Given the description of an element on the screen output the (x, y) to click on. 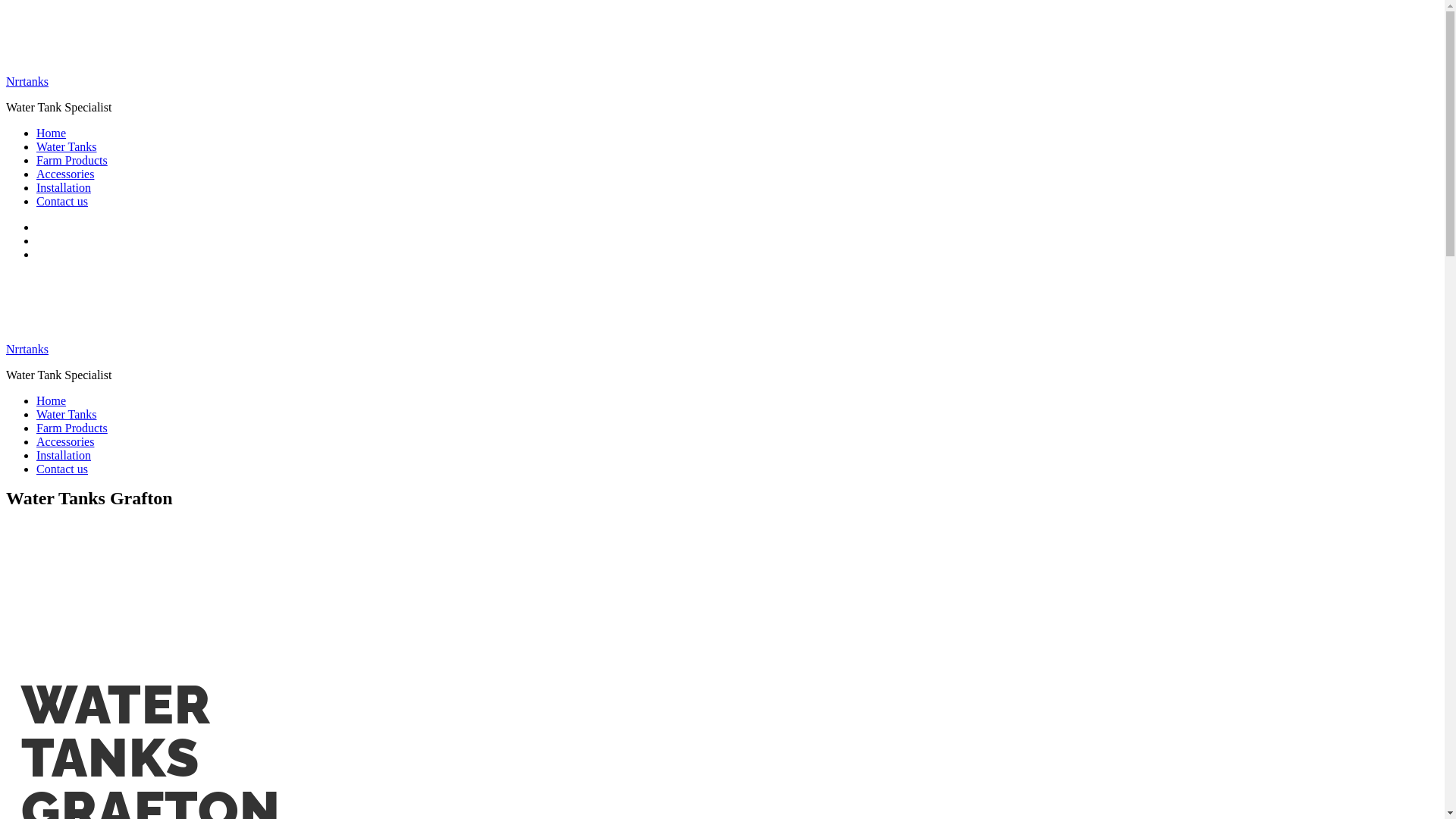
Accessories Element type: text (65, 441)
Home Element type: text (50, 132)
Installation Element type: text (63, 187)
Water Tanks Element type: text (66, 413)
Farm Products Element type: text (71, 427)
Farm Products Element type: text (71, 159)
Nrrtanks Element type: text (27, 348)
Installation Element type: text (63, 454)
Water Tanks Element type: text (66, 146)
Contact us Element type: text (61, 200)
Home Element type: text (50, 400)
Nrrtanks Element type: text (27, 81)
Contact us Element type: text (61, 468)
Accessories Element type: text (65, 173)
